Given the description of an element on the screen output the (x, y) to click on. 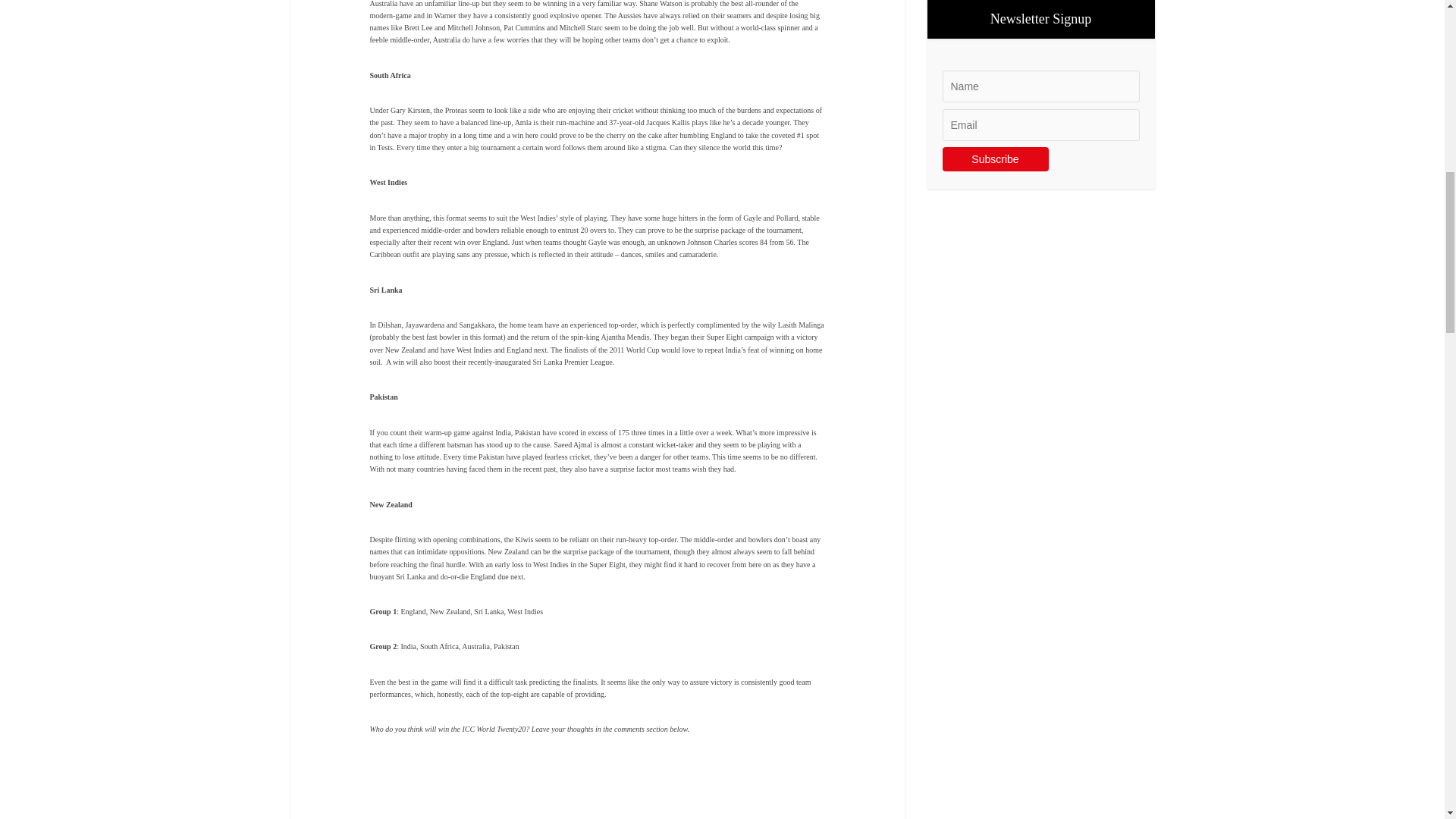
Advertisement (597, 795)
Subscribe (995, 159)
